Given the description of an element on the screen output the (x, y) to click on. 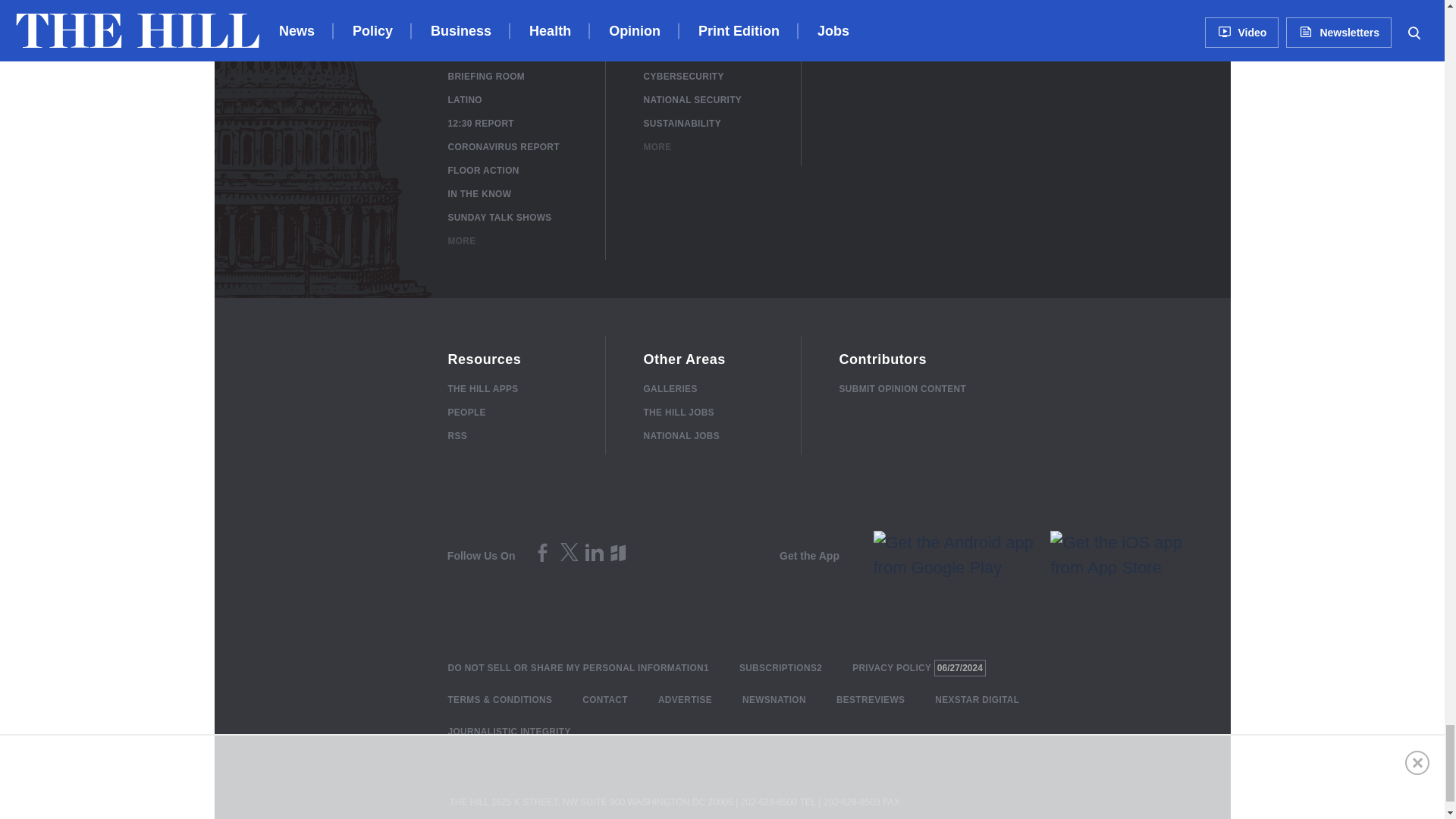
Visit our Haystack News (620, 559)
